Given the description of an element on the screen output the (x, y) to click on. 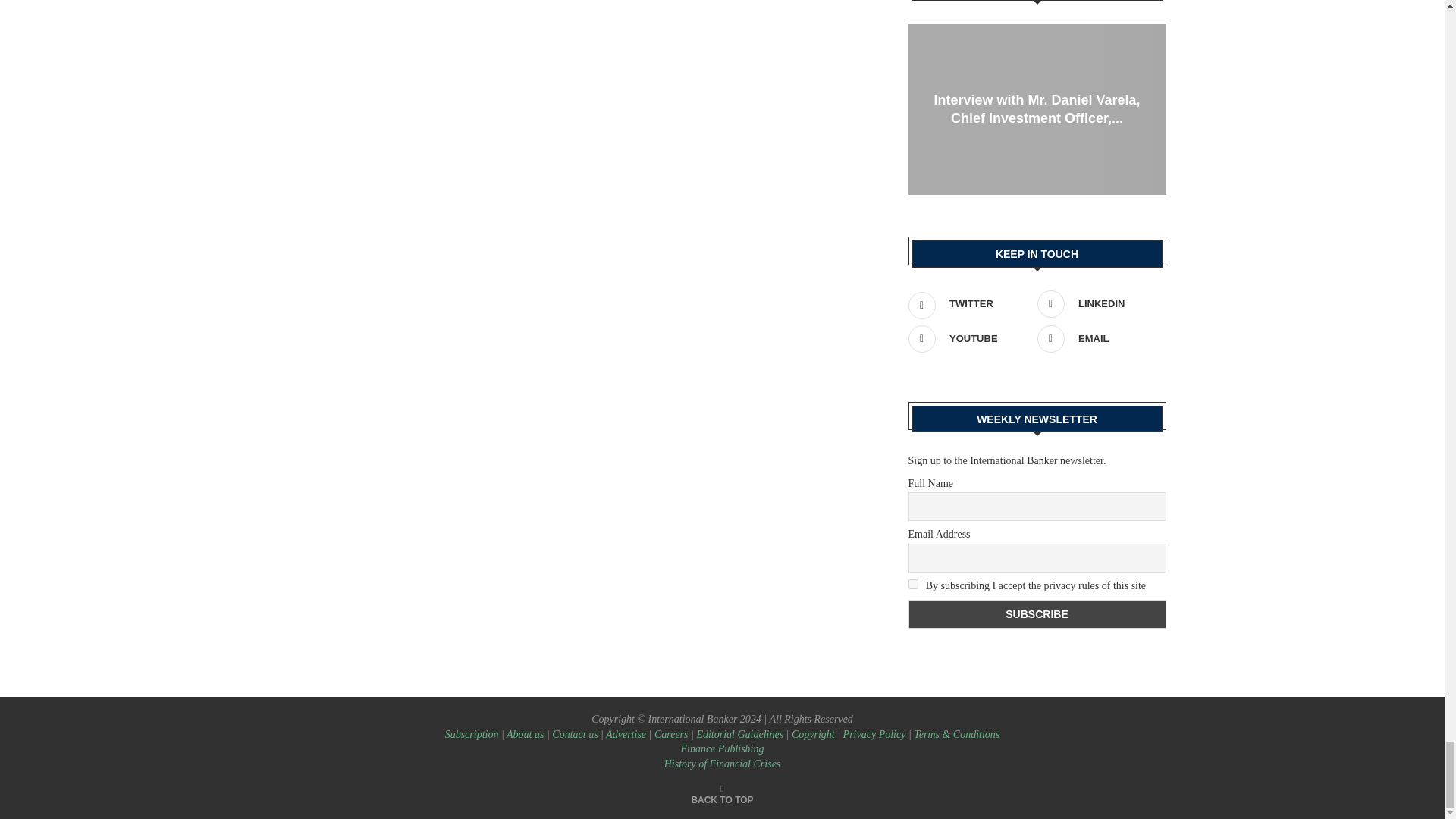
Subscribe (1037, 613)
on (913, 583)
